Given the description of an element on the screen output the (x, y) to click on. 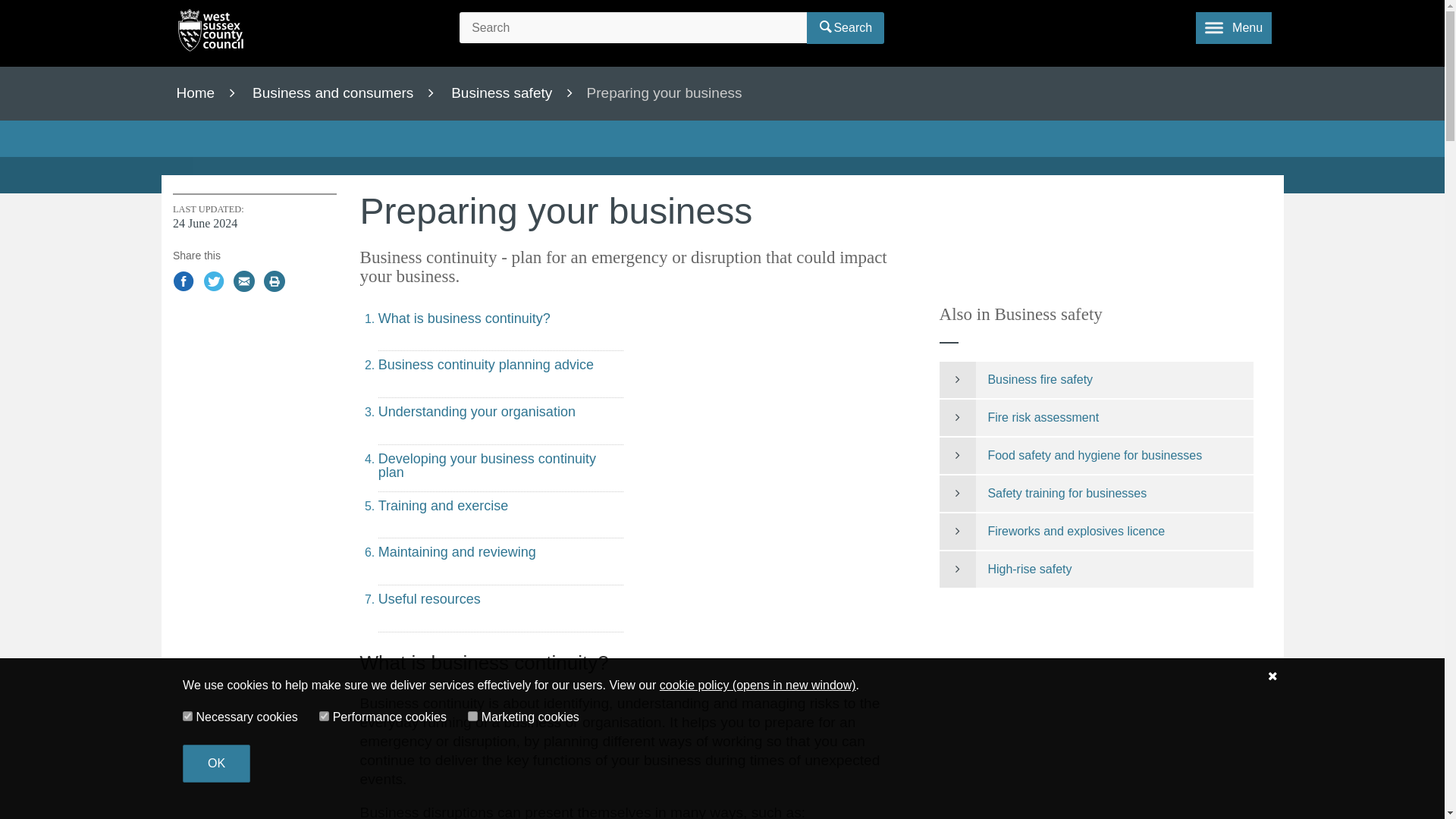
Print this page (274, 282)
Home (210, 32)
Share by email (243, 282)
Business safety (517, 92)
Share on Twitter (213, 282)
Business and consumers (347, 92)
Menu (1233, 28)
necessary (187, 716)
OK (216, 763)
Developing your business continuity plan (500, 468)
marketing (472, 716)
Useful resources (500, 608)
Share on Facebook (183, 282)
Home (210, 92)
Training and exercise (500, 515)
